Given the description of an element on the screen output the (x, y) to click on. 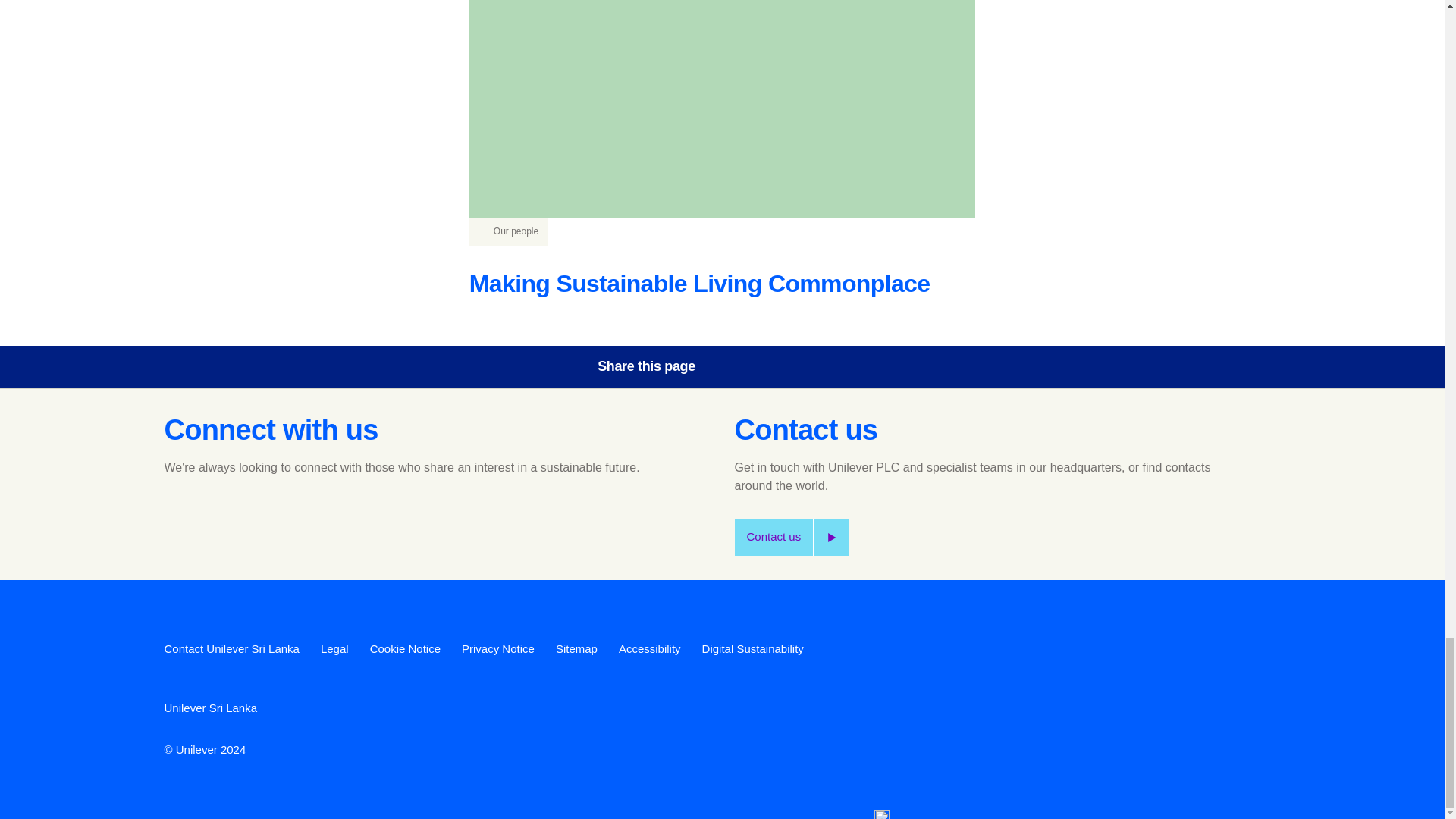
Privacy Notice (497, 648)
Sitemap (576, 648)
Accessibility (649, 648)
Connect with us on YouTube (263, 517)
Legal (334, 648)
Connect with us on LinkedIn (303, 517)
Share this page on Linked In (825, 367)
Share this page on X (782, 367)
Contact Unilever Sri Lanka (230, 648)
Share this page on Facebook (740, 367)
Connect with us on X (222, 517)
Share this page on E-mail (868, 367)
Digital Sustainability (752, 648)
Contact us (790, 537)
Connect with us on Facebook (181, 517)
